Given the description of an element on the screen output the (x, y) to click on. 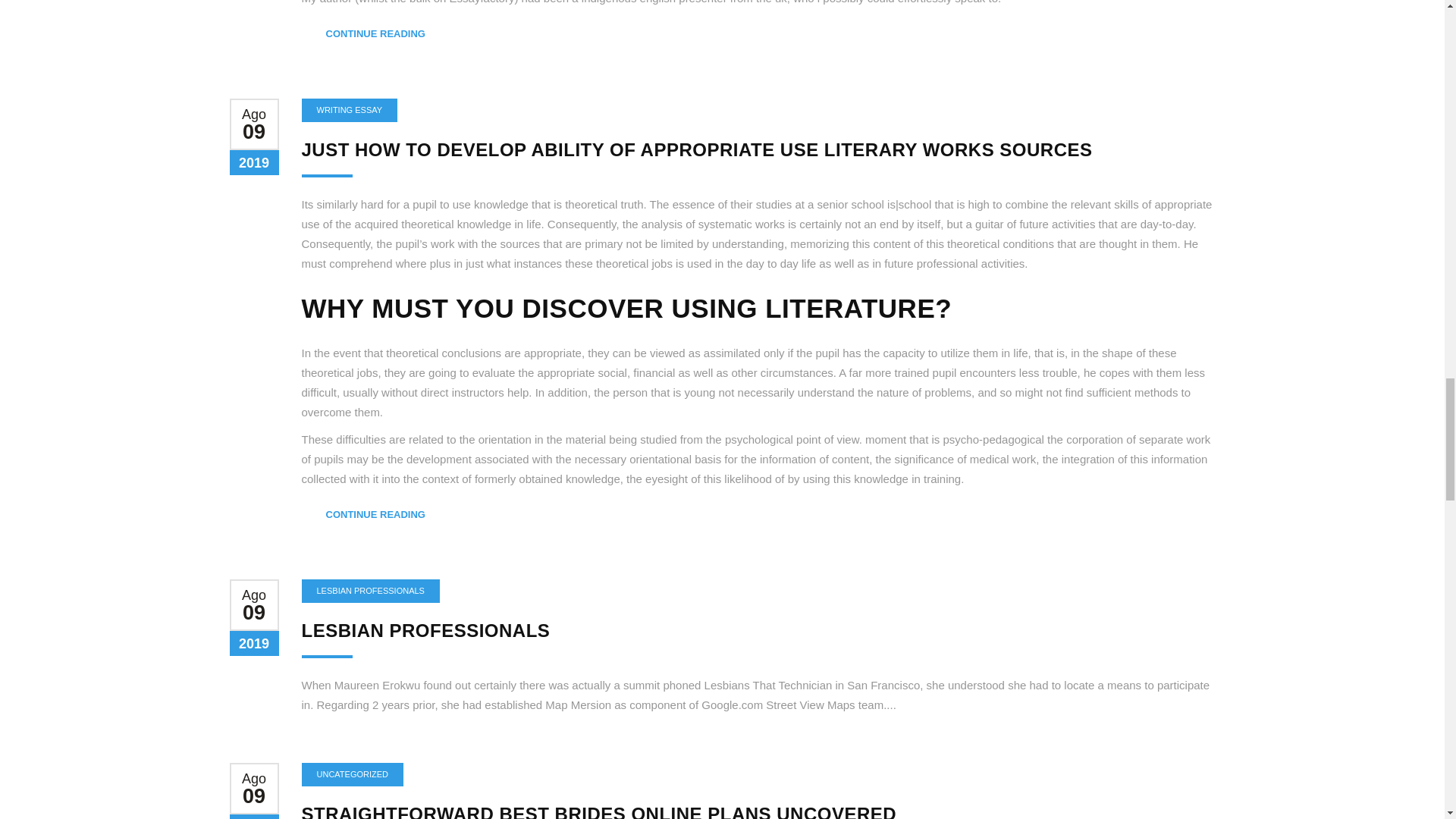
Lesbian Professionals (425, 629)
Straightforward Best Brides Online Plans Uncovered (598, 811)
